Given the description of an element on the screen output the (x, y) to click on. 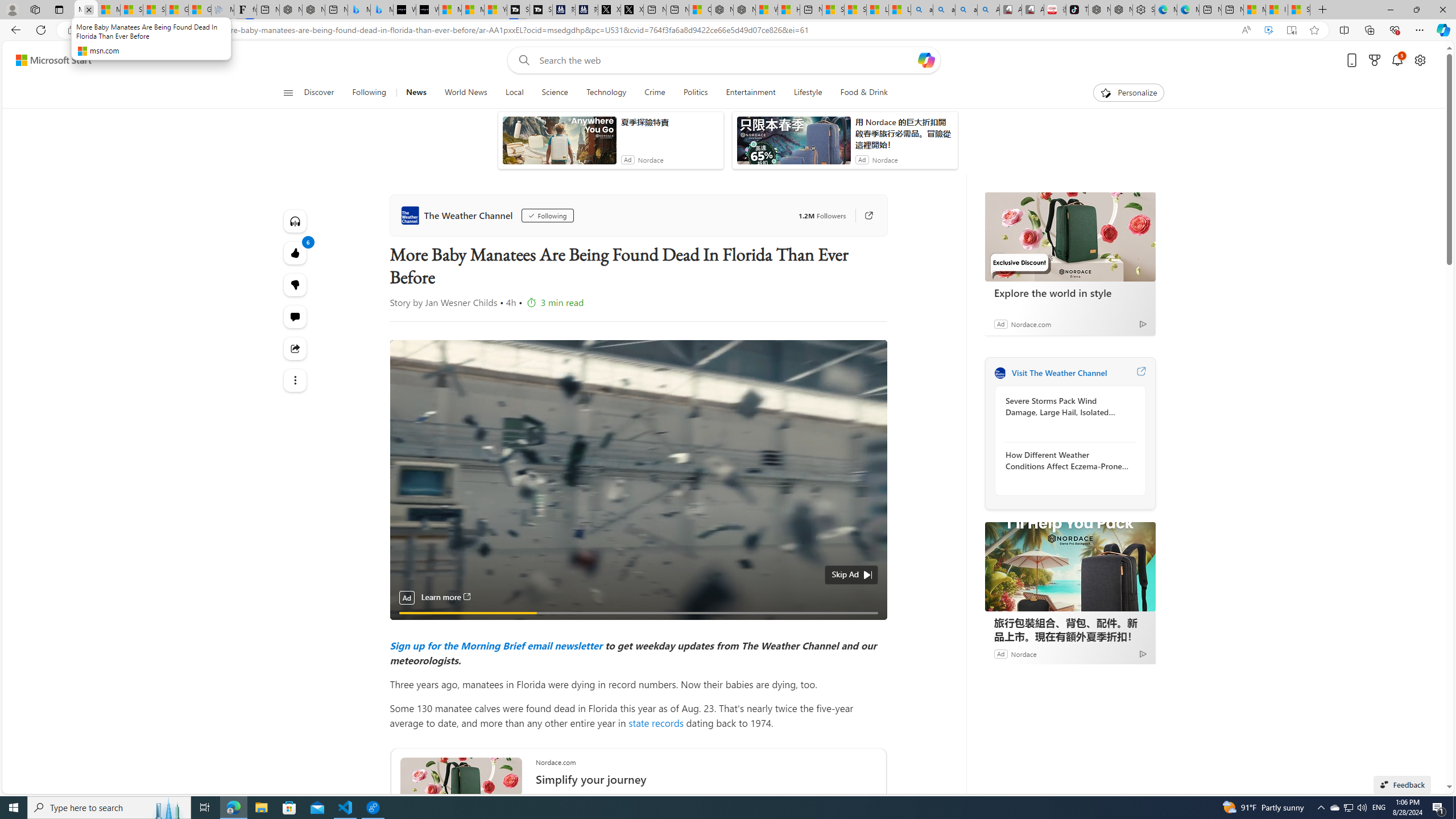
World News (465, 92)
All Cubot phones (1032, 9)
Crime (654, 92)
state records (656, 721)
World News (465, 92)
App bar (728, 29)
Nordace.com Simplify your journey (705, 776)
Lifestyle (807, 92)
Skip Ad (845, 573)
Local (514, 92)
Science (554, 92)
